Given the description of an element on the screen output the (x, y) to click on. 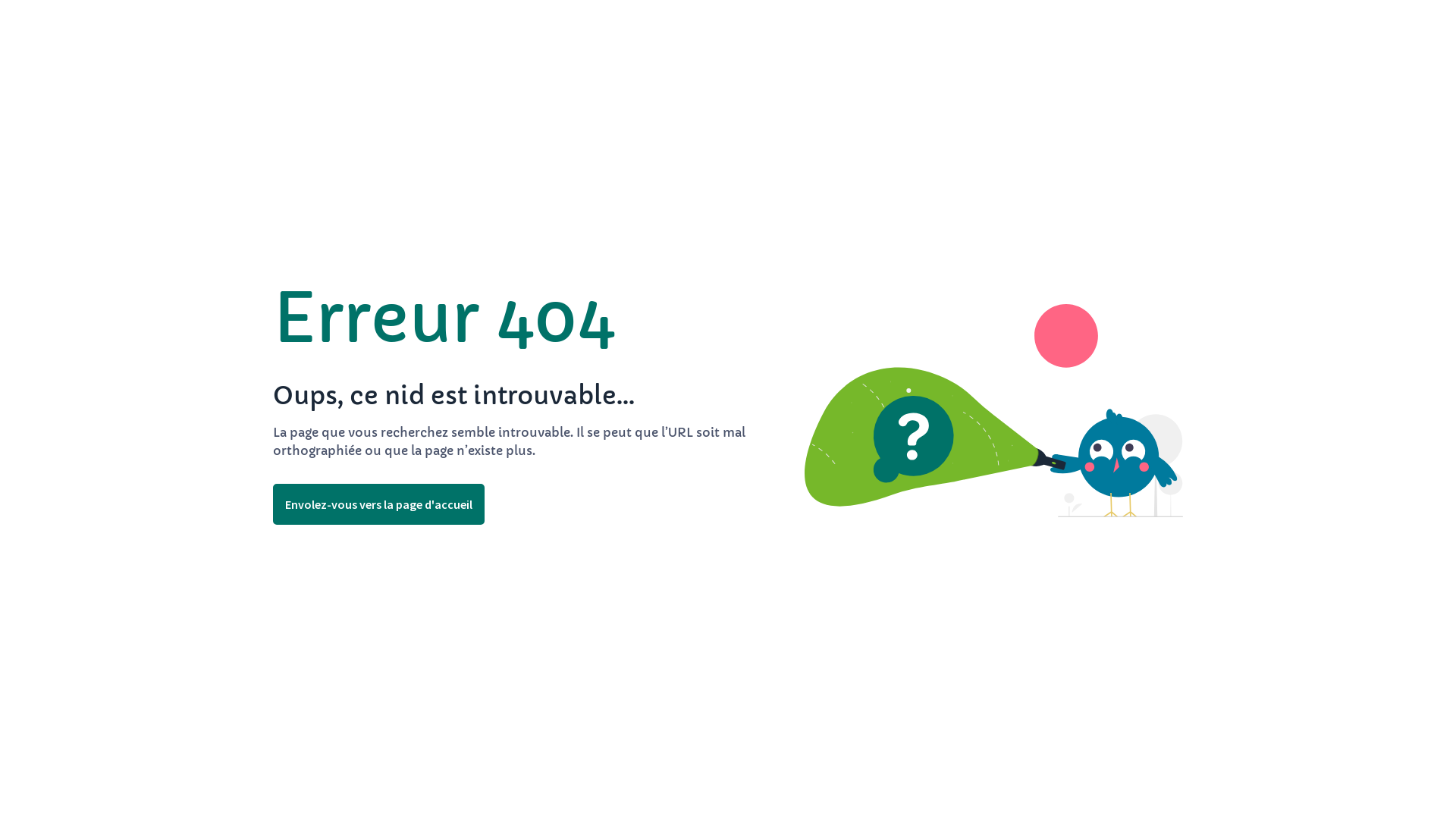
Envolez-vous vers la page d'accueil Element type: text (378, 503)
